Given the description of an element on the screen output the (x, y) to click on. 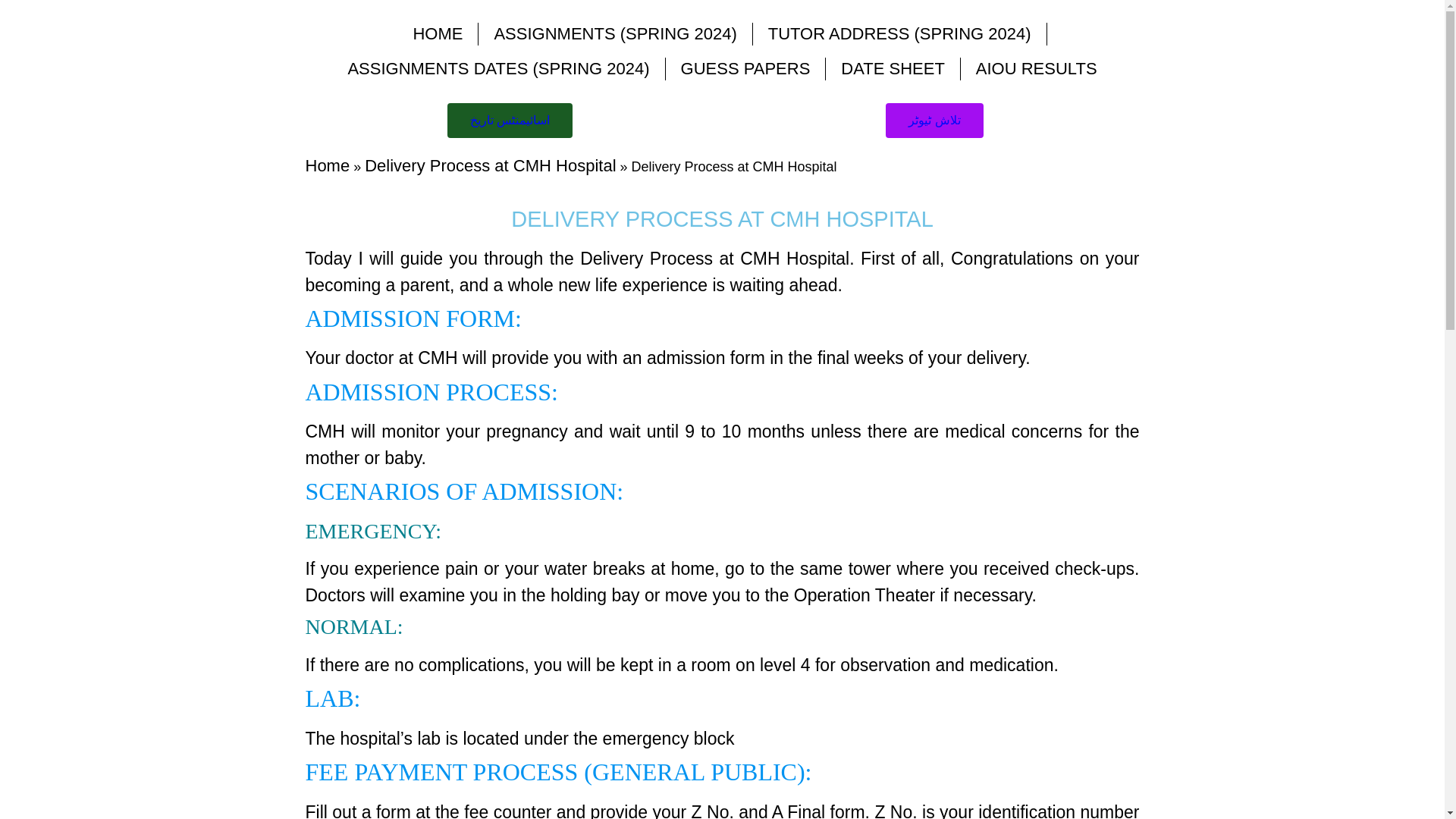
GUESS PAPERS (745, 68)
DATE SHEET (892, 68)
AIOU RESULTS (1036, 68)
HOME (437, 33)
Home (326, 165)
Delivery Process at CMH Hospital (490, 165)
